Given the description of an element on the screen output the (x, y) to click on. 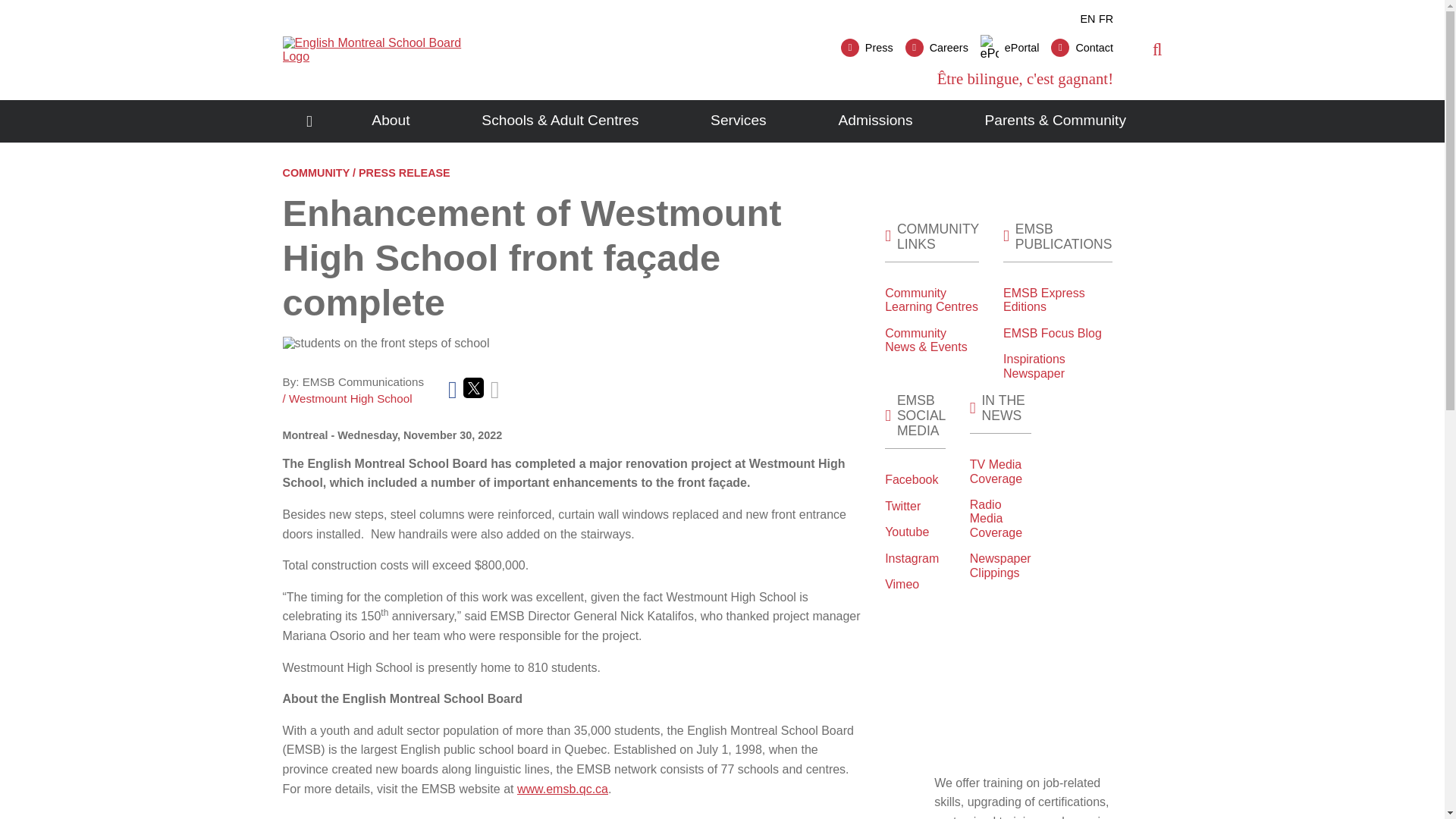
Search (1122, 104)
job opportunities (936, 47)
Go to homepage (309, 120)
About (390, 120)
Search (1157, 49)
Open Search (1157, 49)
EN (1087, 19)
get in touch (1082, 47)
Contact (1082, 47)
Info for media and journalists (867, 47)
FR (1106, 19)
Press (867, 47)
staff portal, employee services, student portal, eportal (1009, 47)
About (390, 120)
ePortal (1009, 47)
